Given the description of an element on the screen output the (x, y) to click on. 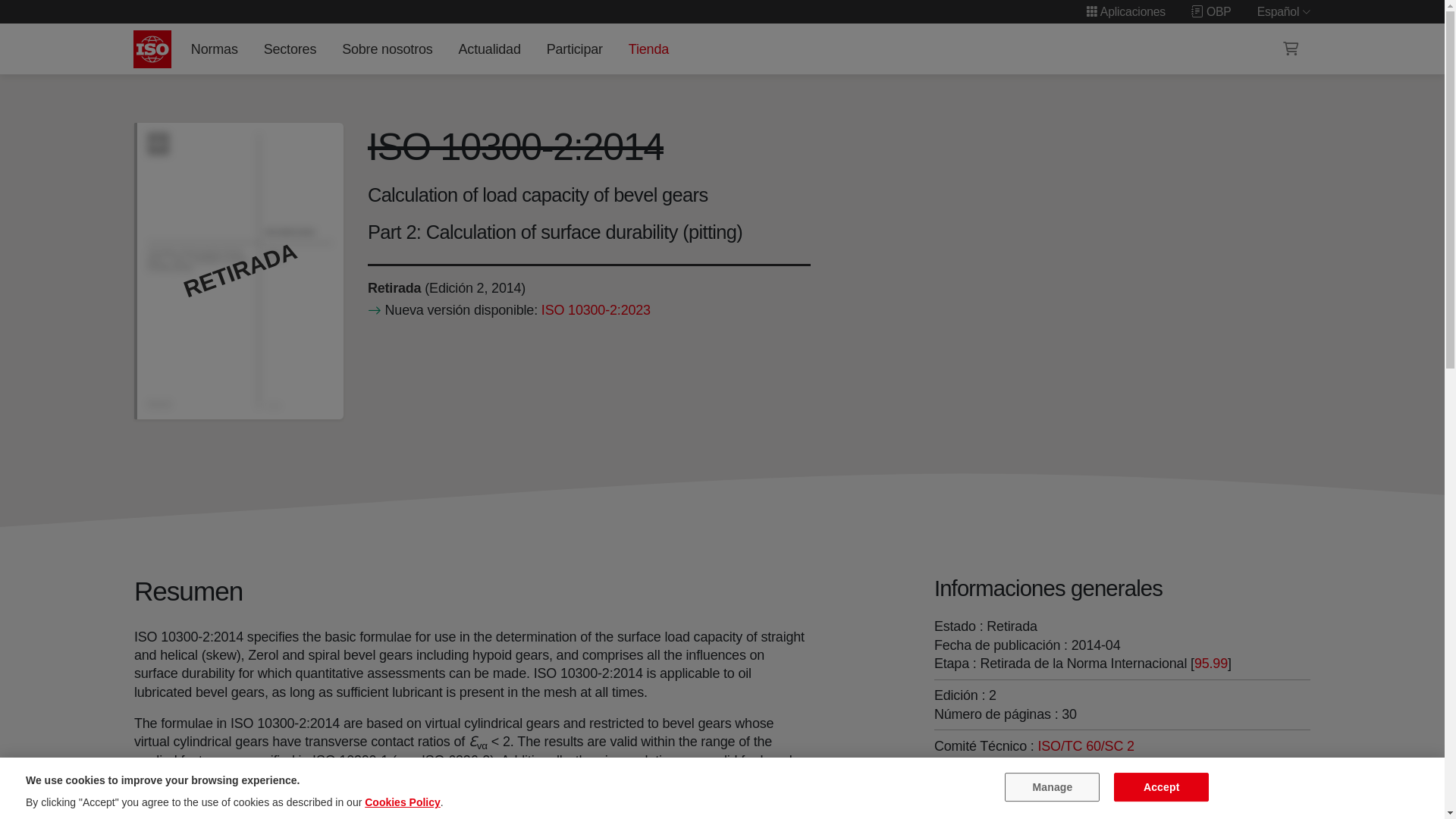
Gear capacity calculation (1086, 745)
 OBP (1211, 11)
Ciclo de vida (393, 287)
Gears (988, 764)
95.99 (1210, 663)
Actualidad (489, 48)
Carro de la compra (1290, 49)
Participar (574, 48)
Portal de aplicaciones de ISO (1126, 11)
Retirada (393, 287)
Tienda (648, 48)
